Given the description of an element on the screen output the (x, y) to click on. 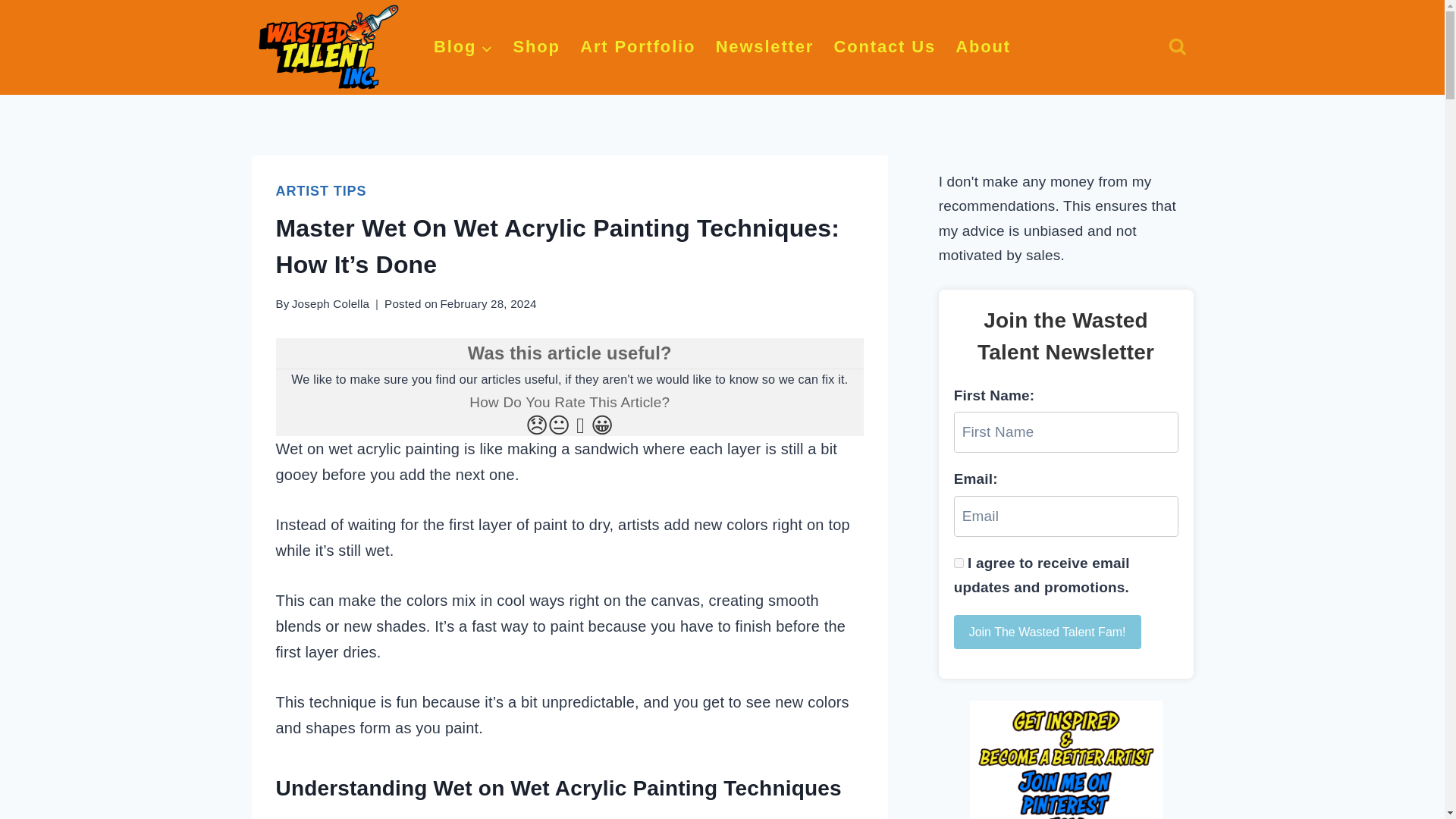
Shop (536, 47)
Newsletter (764, 47)
Blog (463, 47)
Art Portfolio (637, 47)
1 (958, 562)
ARTIST TIPS (321, 191)
Joseph Colella (330, 303)
About (982, 47)
Contact Us (884, 47)
